Given the description of an element on the screen output the (x, y) to click on. 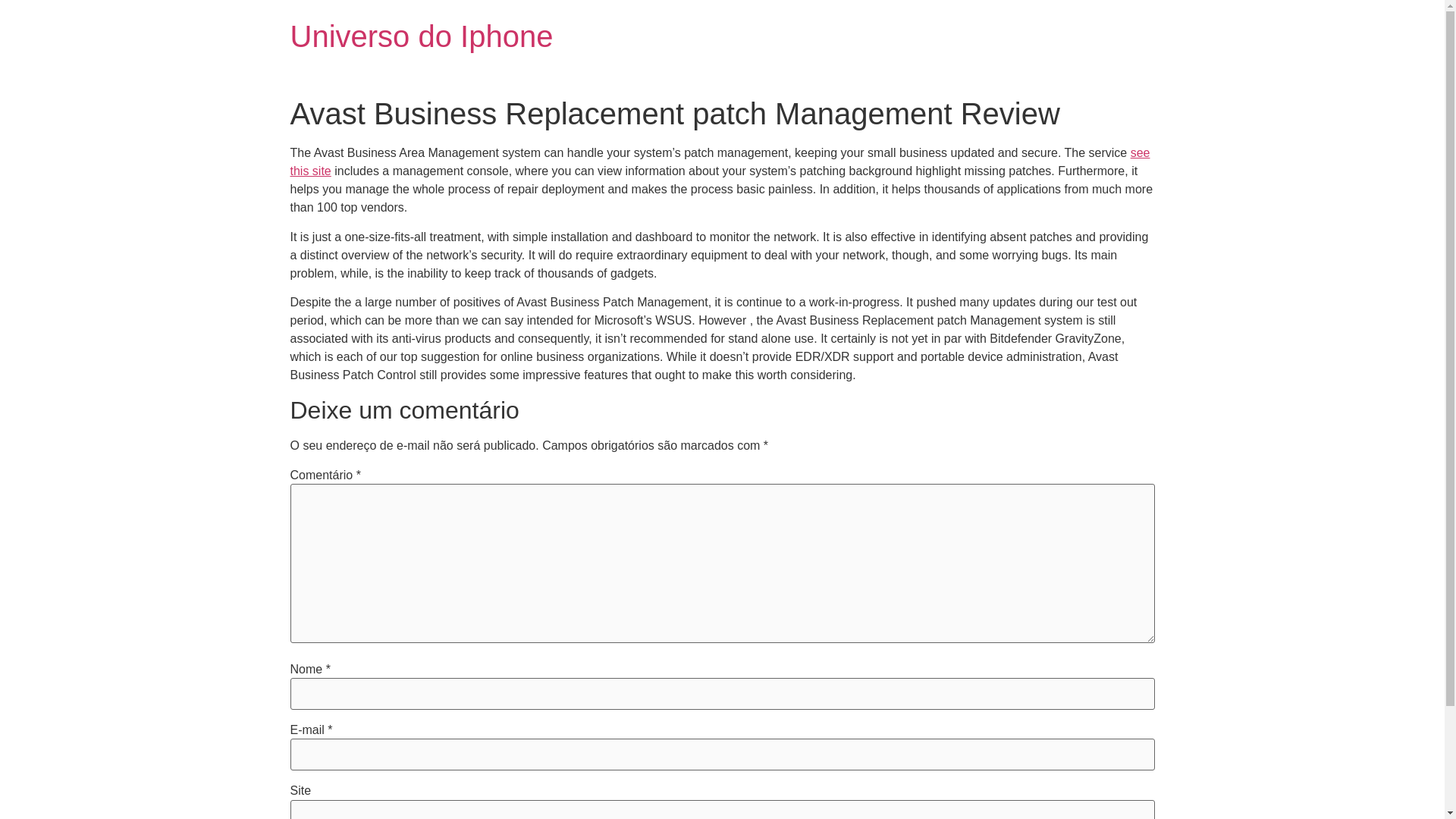
Inicial (421, 36)
Universo do Iphone (421, 36)
see this site (719, 161)
